Given the description of an element on the screen output the (x, y) to click on. 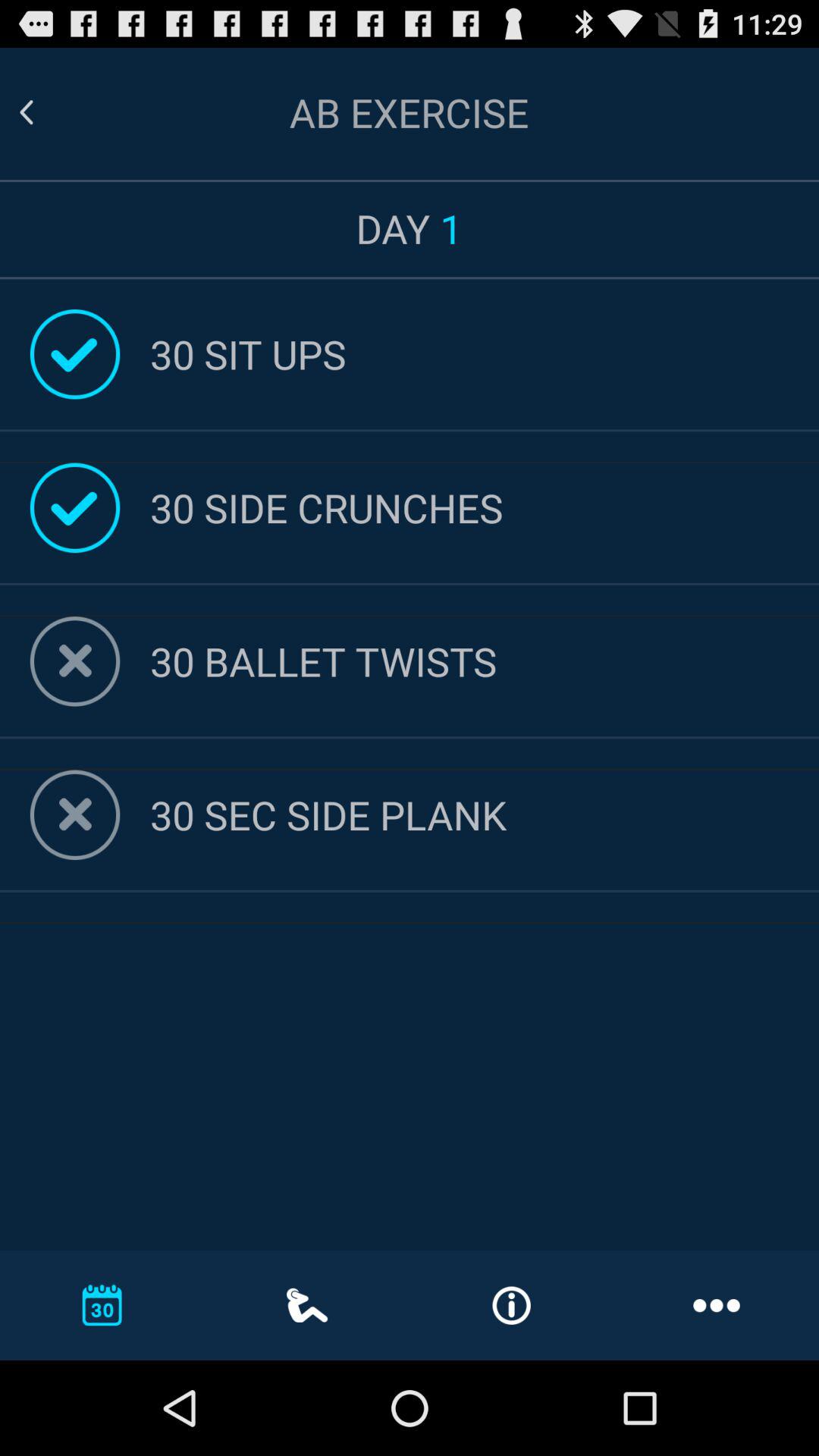
select the option beside 30 ballet twists (74, 660)
click on more info icon at the bottom of the web page (511, 1305)
select the icon on left to the button 30 situps on the web page (74, 354)
select the calendar icon on the bottom left corner of the web page (102, 1304)
click on the calendar icon at the bottom left corner of the web page (102, 1304)
click the last close button on the left side of the web page (74, 815)
click on the 3 horizontal dots at the bottom right corner of the page (716, 1304)
click on the tick symbol on the left side of 30 side crunches (74, 508)
select 30 side crunches (484, 507)
click on 30 ballet twists (484, 660)
click on icon right to calendar icon (306, 1305)
click on 30 sit ups above 30 side crunches (484, 353)
select option beside 30 sec side plank (74, 815)
click the button 30 side crunches on the web page (484, 507)
